Given the description of an element on the screen output the (x, y) to click on. 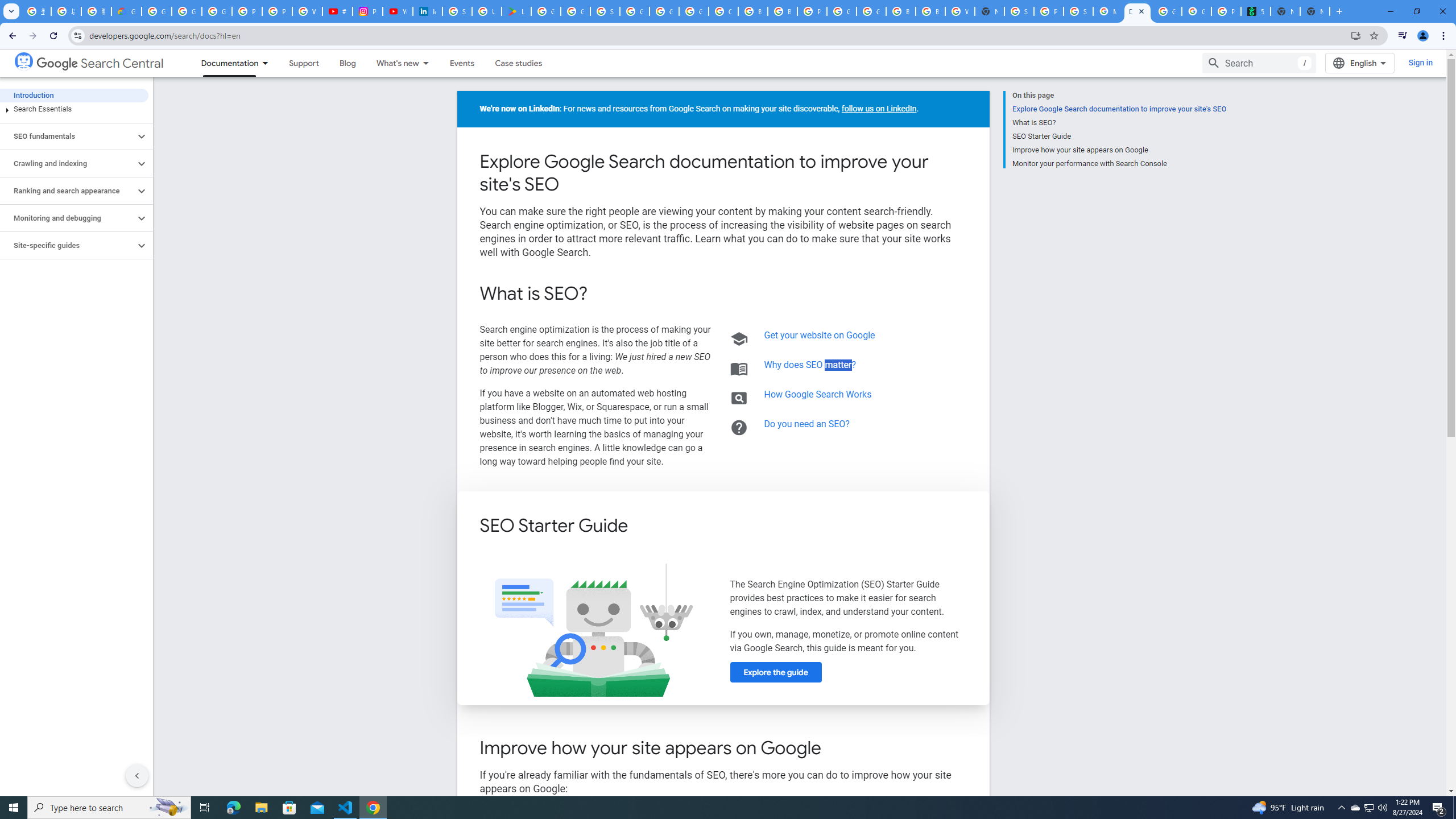
Copy link to this section: SEO Starter Guide  (643, 526)
Support (303, 62)
Browse Chrome as a guest - Computer - Google Chrome Help (753, 11)
Install Google Developers (1355, 35)
Monitoring and debugging (67, 218)
What is SEO? (1118, 122)
Site-specific guides (67, 245)
Improve how your site appears on Google (1118, 150)
Privacy Help Center - Policies Help (277, 11)
